Given the description of an element on the screen output the (x, y) to click on. 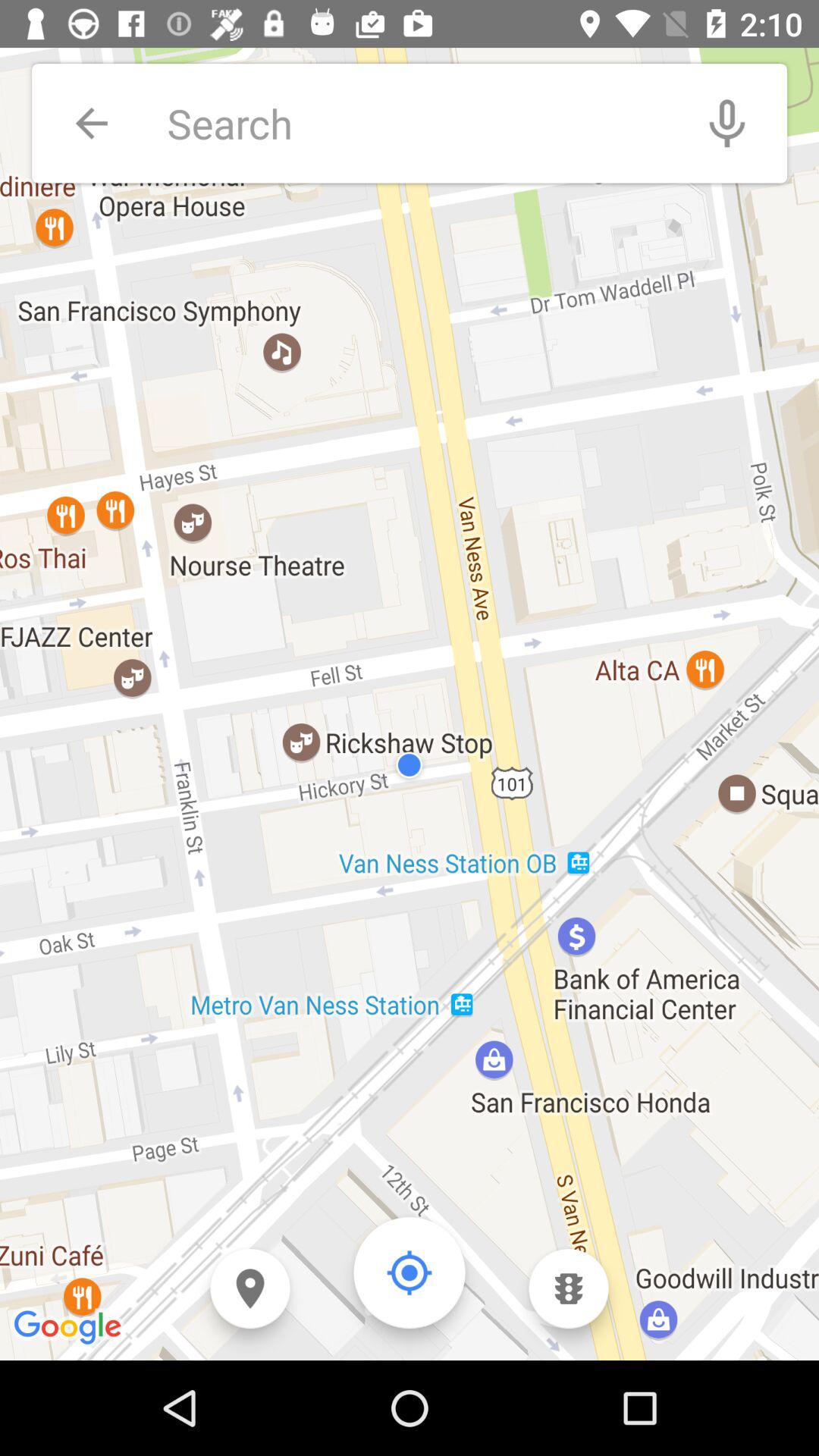
go to previous page (91, 123)
